Given the description of an element on the screen output the (x, y) to click on. 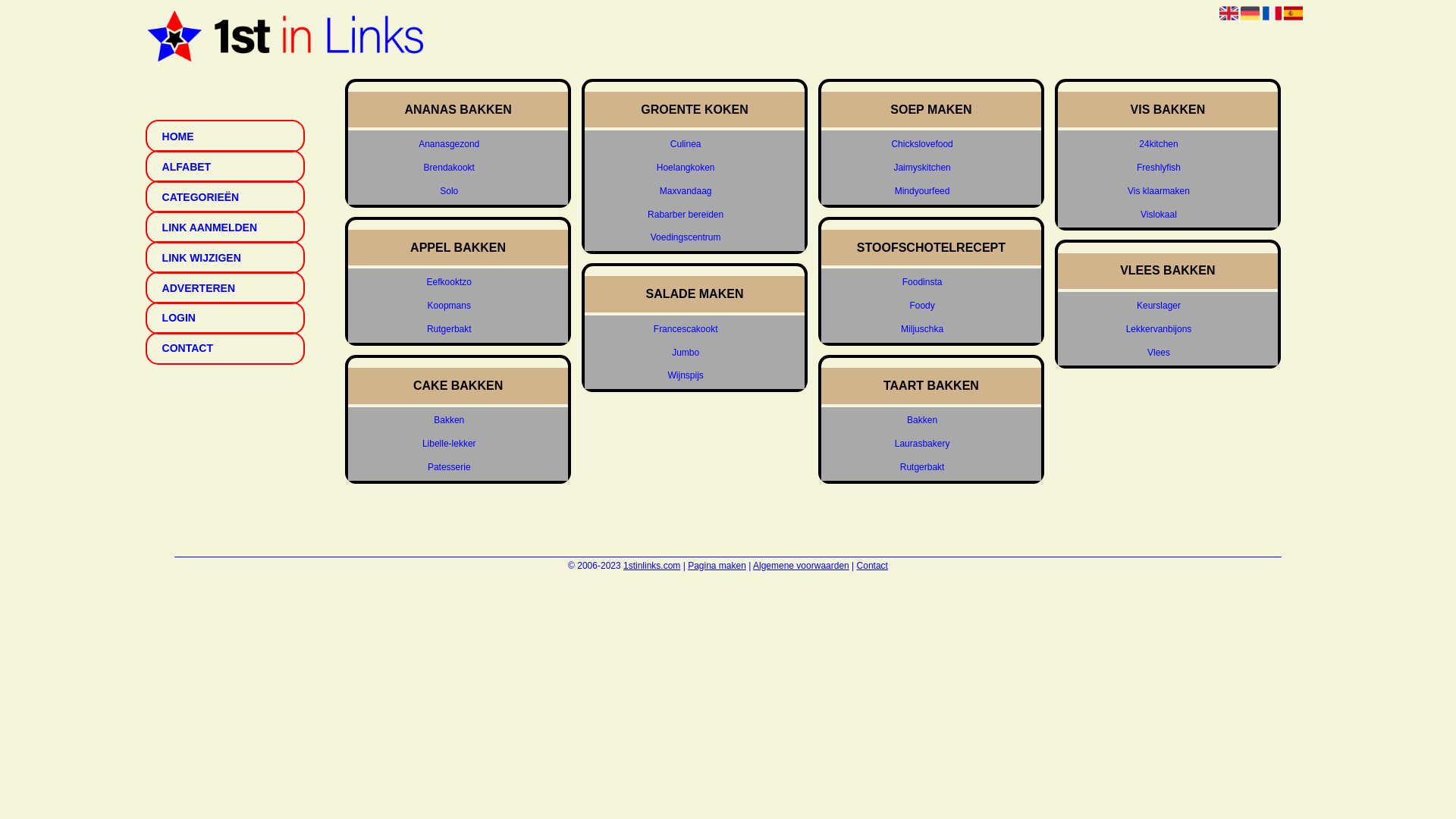
Mindyourfeed Element type: text (921, 190)
Eefkooktzo Element type: text (449, 282)
Culinea Element type: text (685, 144)
Rutgerbakt Element type: text (449, 328)
1stinlinks.com Element type: text (651, 565)
Vislokaal Element type: text (1158, 213)
Keurslager Element type: text (1158, 305)
Voedingscentrum Element type: text (685, 237)
24kitchen Element type: text (1158, 144)
Maxvandaag Element type: text (685, 190)
Vlees Element type: text (1158, 352)
Contact Element type: text (872, 565)
Rutgerbakt Element type: text (921, 466)
Lekkervanbijons Element type: text (1158, 328)
CONTACT Element type: text (224, 348)
LOGIN Element type: text (224, 317)
Foodinsta Element type: text (921, 282)
Wijnspijs Element type: text (685, 375)
Koopmans Element type: text (449, 305)
Foody Element type: text (921, 305)
Jaimyskitchen Element type: text (921, 167)
Miljuschka Element type: text (921, 328)
LINK WIJZIGEN Element type: text (224, 257)
ALFABET Element type: text (224, 166)
LINK AANMELDEN Element type: text (224, 226)
Rabarber bereiden Element type: text (685, 213)
Jumbo Element type: text (685, 352)
Vis klaarmaken Element type: text (1158, 190)
Chickslovefood Element type: text (921, 144)
Freshlyfish Element type: text (1158, 167)
Laurasbakery Element type: text (921, 443)
Ananasgezond Element type: text (449, 144)
Bakken Element type: text (921, 420)
HOME Element type: text (224, 135)
Hoelangkoken Element type: text (685, 167)
Patesserie Element type: text (449, 466)
Francescakookt Element type: text (685, 328)
Libelle-lekker Element type: text (449, 443)
Bakken Element type: text (449, 420)
Pagina maken Element type: text (716, 565)
ADVERTEREN Element type: text (224, 287)
Algemene voorwaarden Element type: text (801, 565)
Brendakookt Element type: text (449, 167)
Solo Element type: text (449, 190)
